Given the description of an element on the screen output the (x, y) to click on. 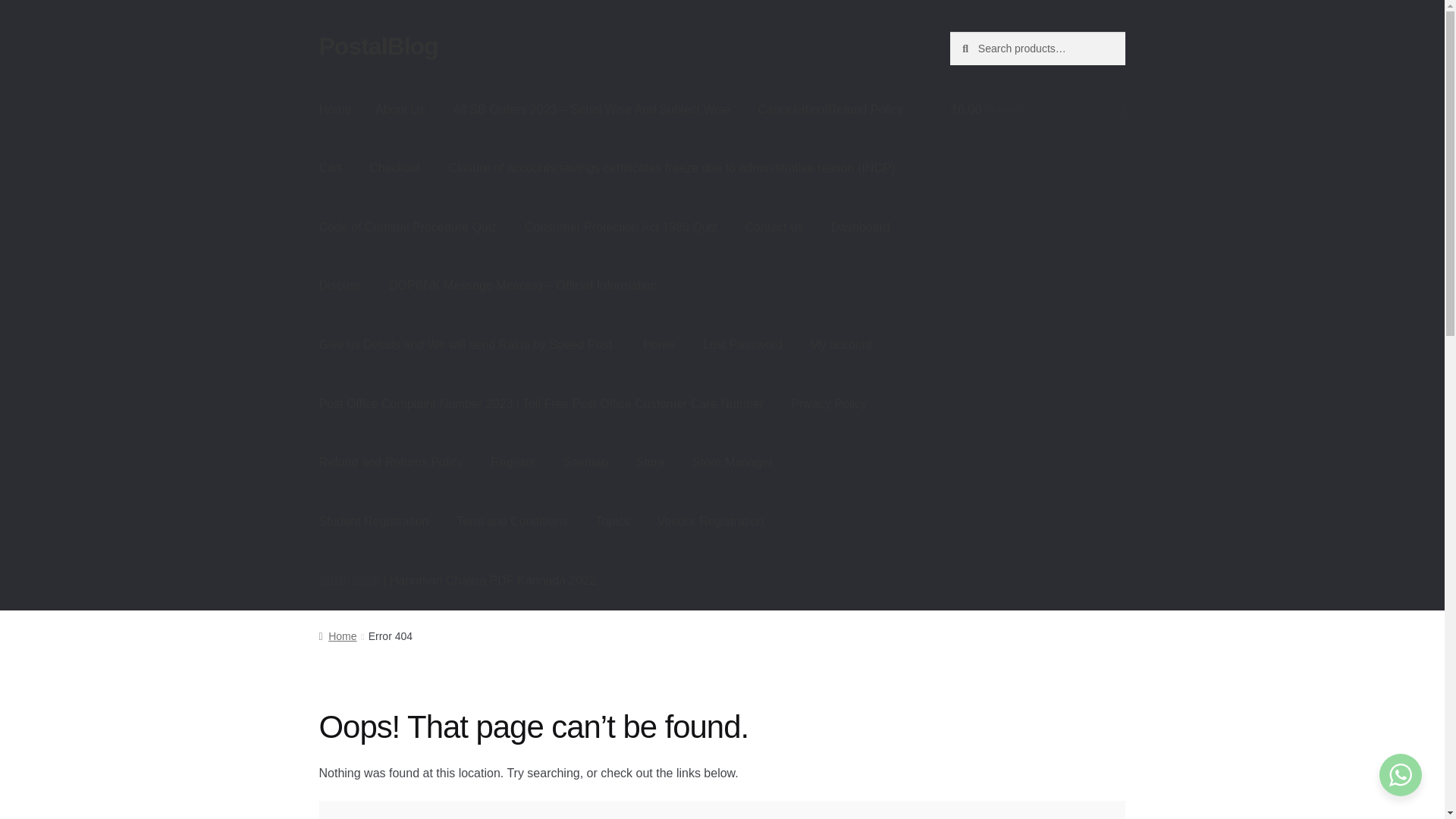
Student Registration (374, 521)
Discuss (340, 286)
Term and Conditions (511, 521)
Checkout (394, 168)
PostalBlog (378, 45)
Store (650, 462)
Privacy Policy (828, 404)
Refund and Returns Policy (391, 462)
About Us (400, 109)
Register (513, 462)
Give us Details and We will send Rakhi by Speed Post. (467, 344)
Lost Password (742, 344)
Contact us (774, 227)
